Given the description of an element on the screen output the (x, y) to click on. 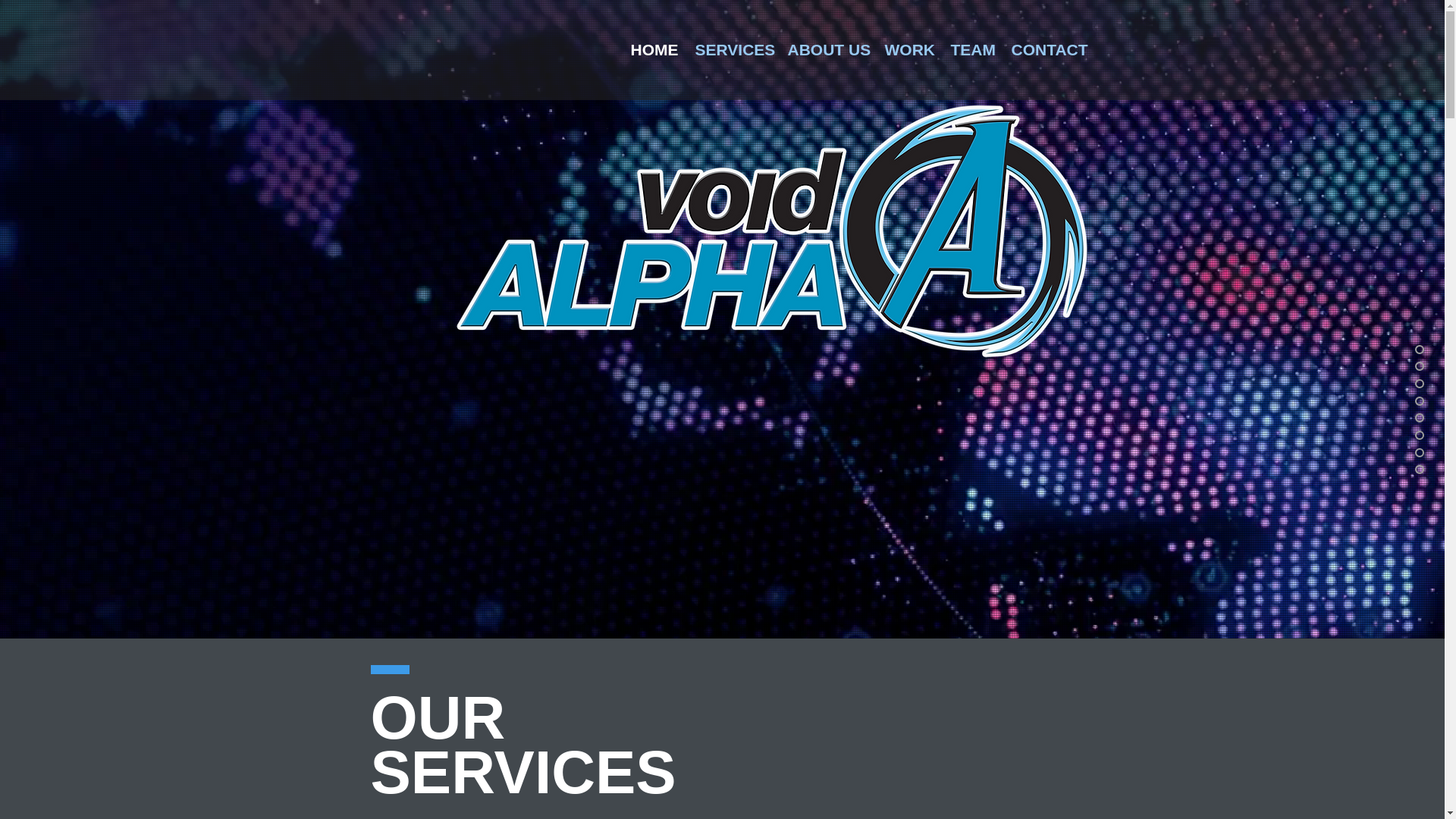
CONTACT (1048, 49)
SERVICES (732, 49)
WORK (909, 49)
HOME (653, 49)
ABOUT US (827, 49)
